Given the description of an element on the screen output the (x, y) to click on. 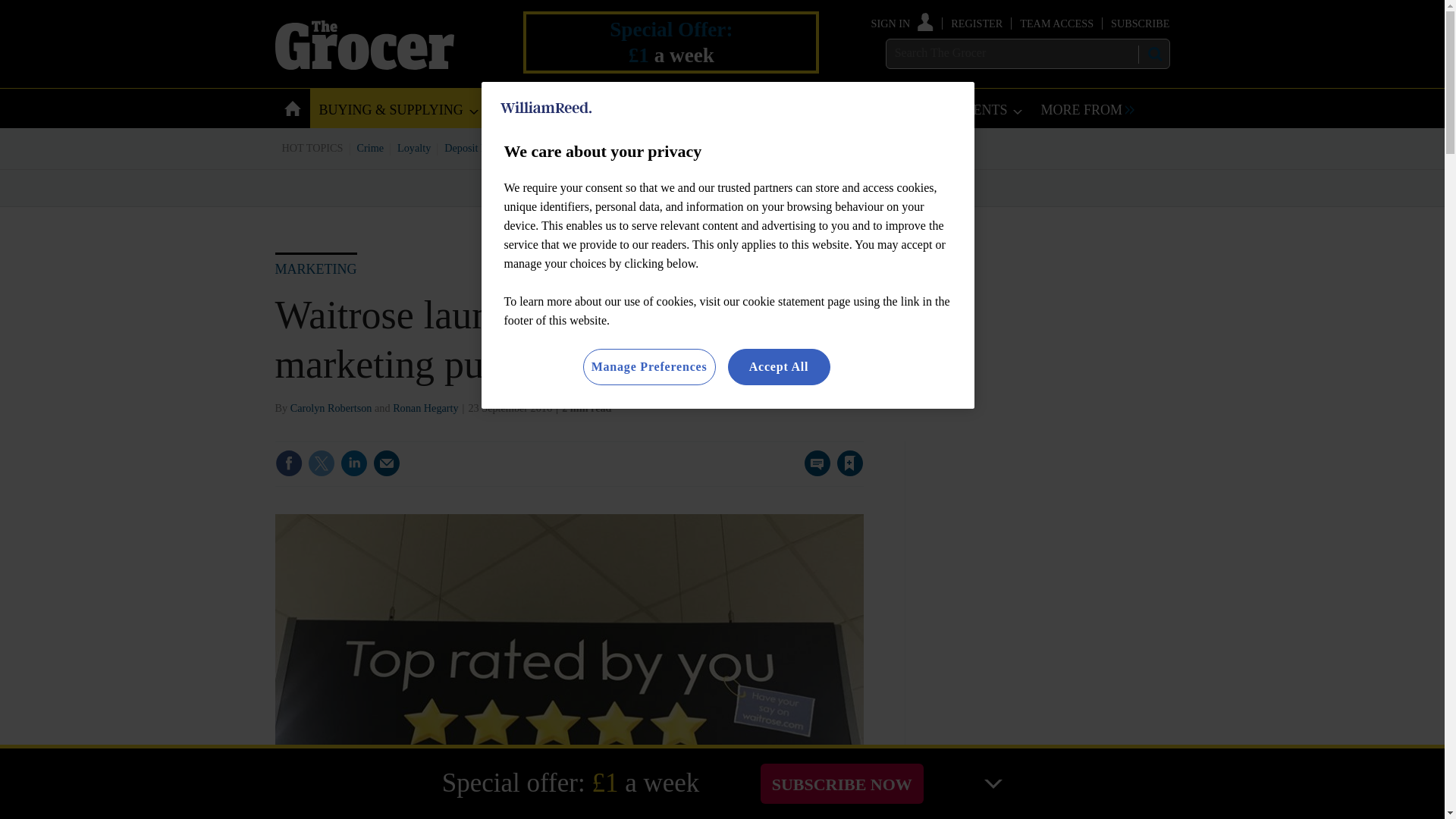
Loyalty (414, 147)
Vaping (774, 147)
No comments (812, 472)
Share this on Linked in (352, 462)
Email this article (386, 462)
SUBSCRIBE (1139, 23)
Site name (363, 65)
SIGN IN (902, 23)
Deposit Return Schemes (497, 147)
KVI price tracker (602, 147)
